Given the description of an element on the screen output the (x, y) to click on. 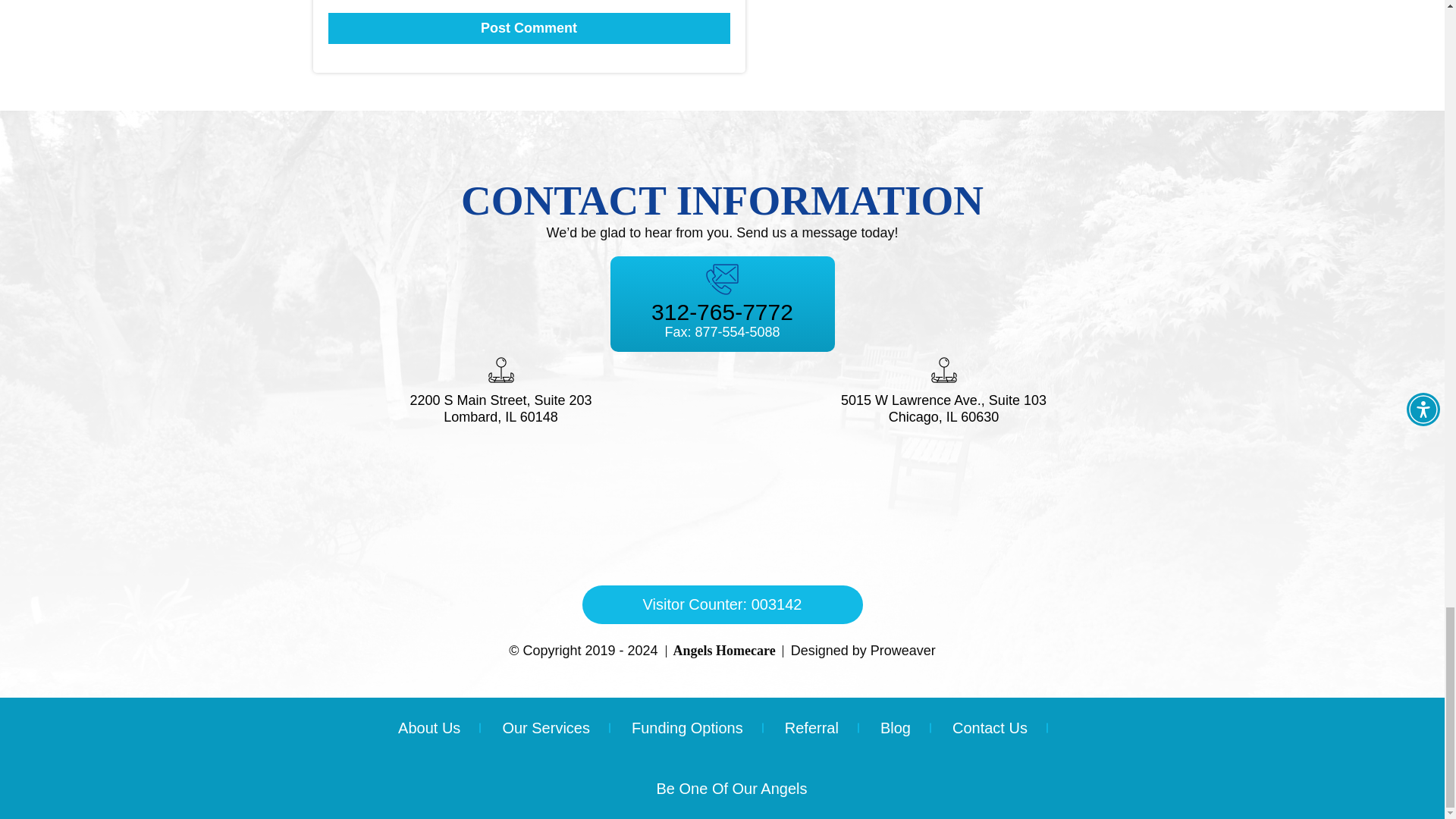
Post Comment (528, 28)
312-765-7772 (721, 311)
Blog (895, 727)
Post Comment (528, 28)
Referral (811, 727)
About Us (438, 727)
Funding Options (686, 727)
Our Services (545, 727)
Proweaver (903, 650)
